Given the description of an element on the screen output the (x, y) to click on. 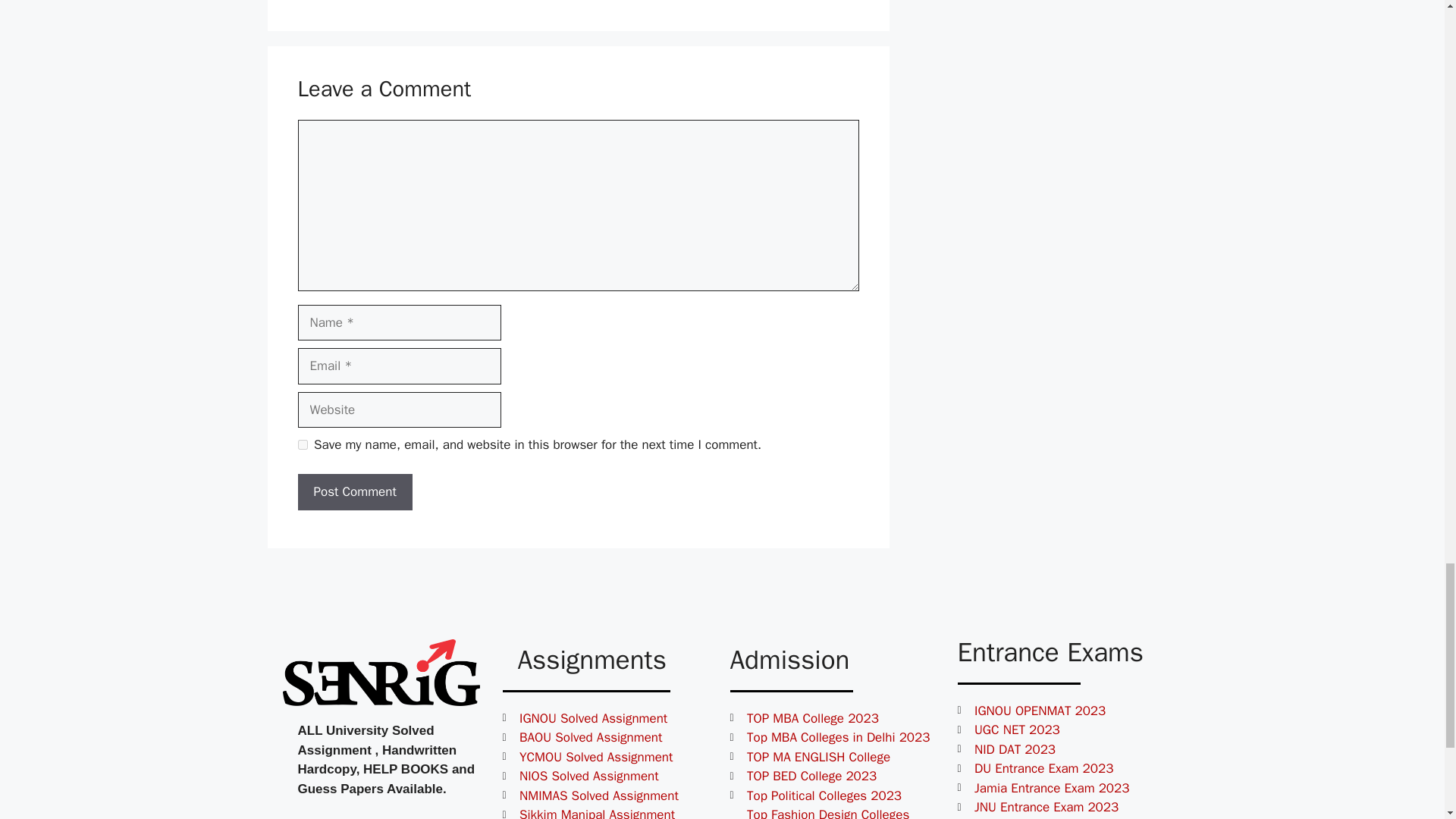
Post Comment (354, 492)
yes (302, 444)
Post Comment (354, 492)
